Given the description of an element on the screen output the (x, y) to click on. 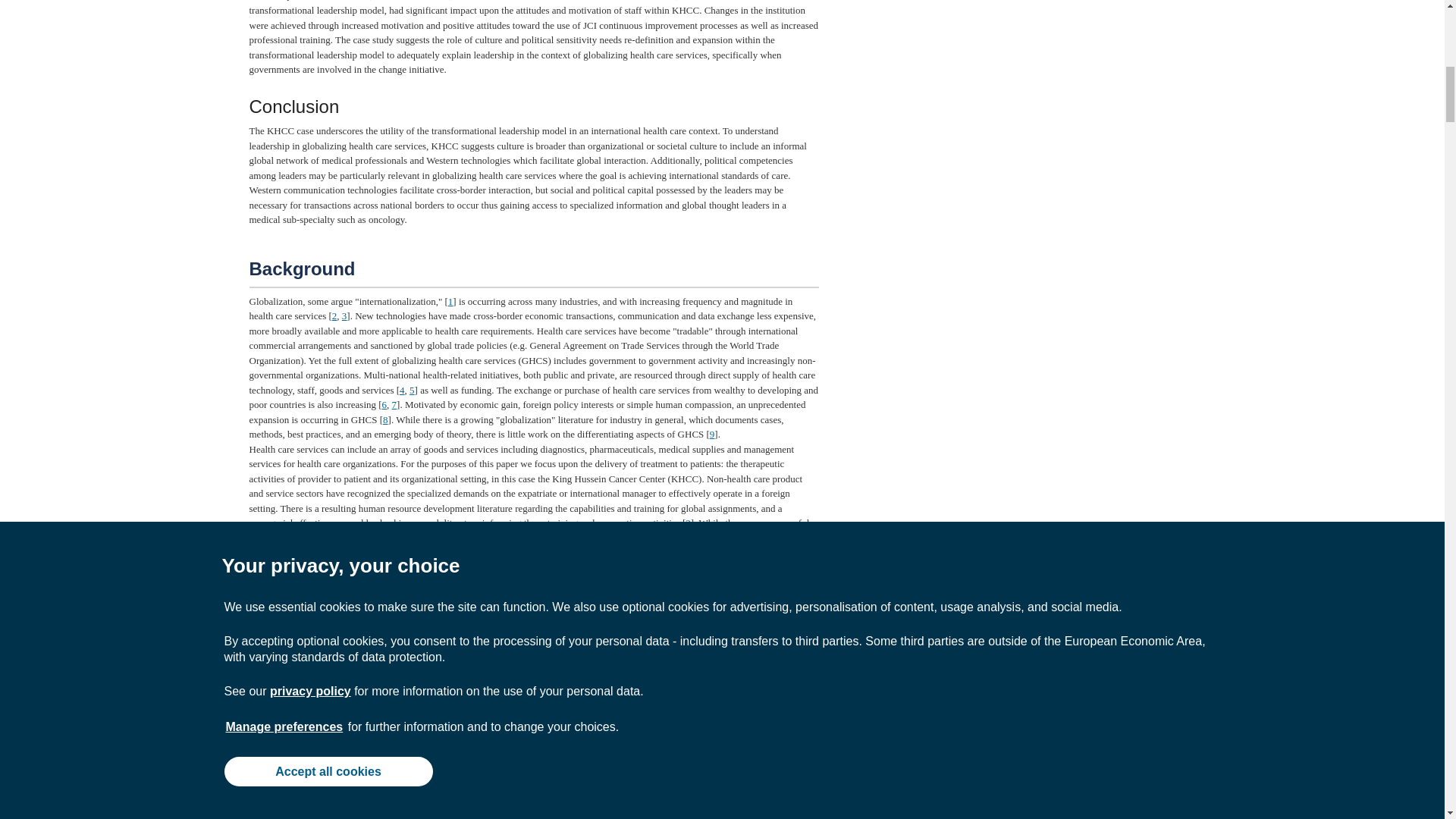
5 (411, 389)
1 (450, 301)
3 (344, 315)
4 (401, 389)
7 (394, 404)
6 (384, 404)
